Given the description of an element on the screen output the (x, y) to click on. 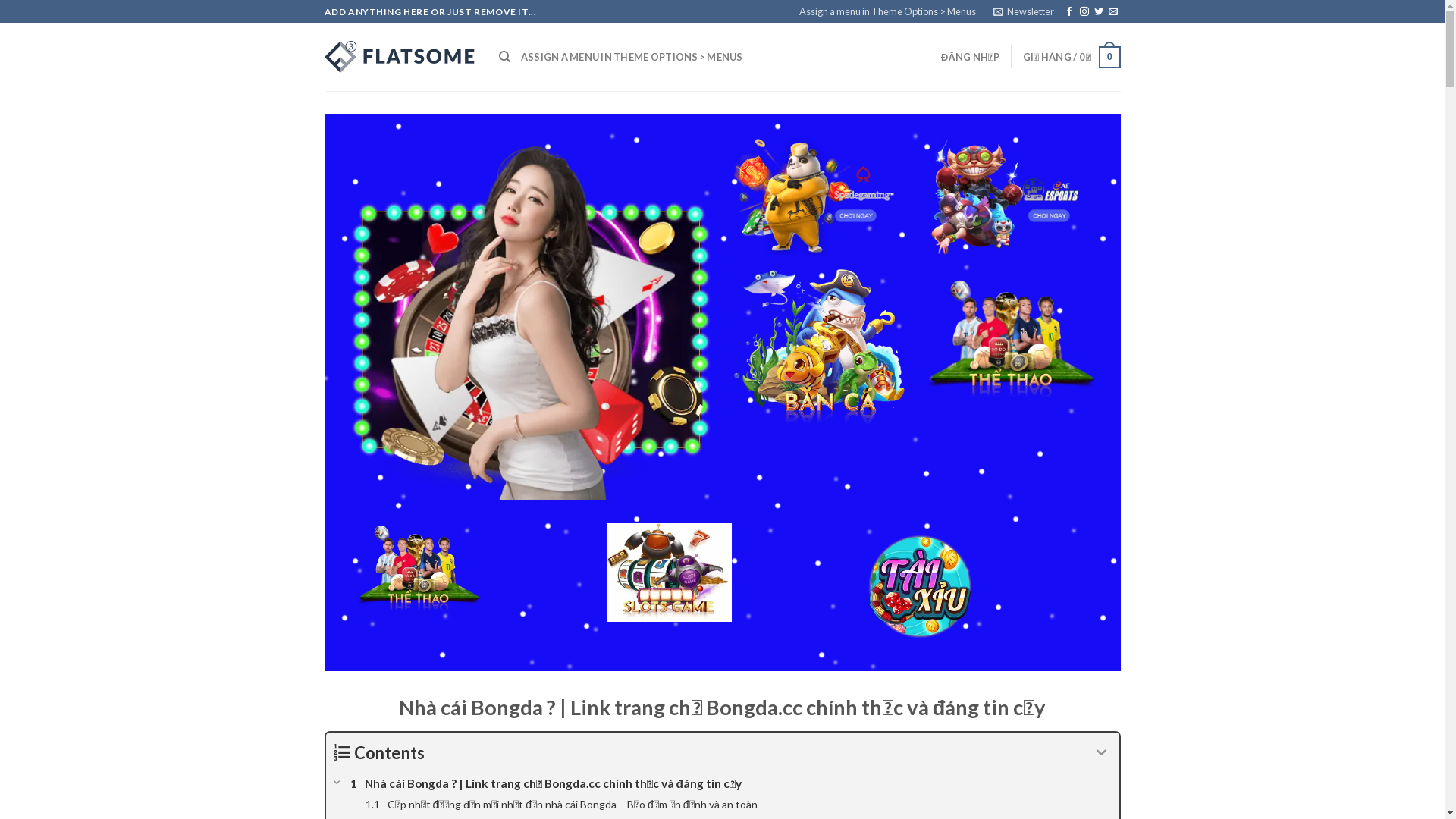
Assign a menu in Theme Options > Menus Element type: text (887, 11)
ASSIGN A MENU IN THEME OPTIONS > MENUS Element type: text (631, 56)
Follow on Instagram Element type: hover (1083, 11)
Follow on Twitter Element type: hover (1098, 11)
Send us an email Element type: hover (1112, 11)
Follow on Facebook Element type: hover (1068, 11)
Newsletter Element type: text (1023, 11)
